Given the description of an element on the screen output the (x, y) to click on. 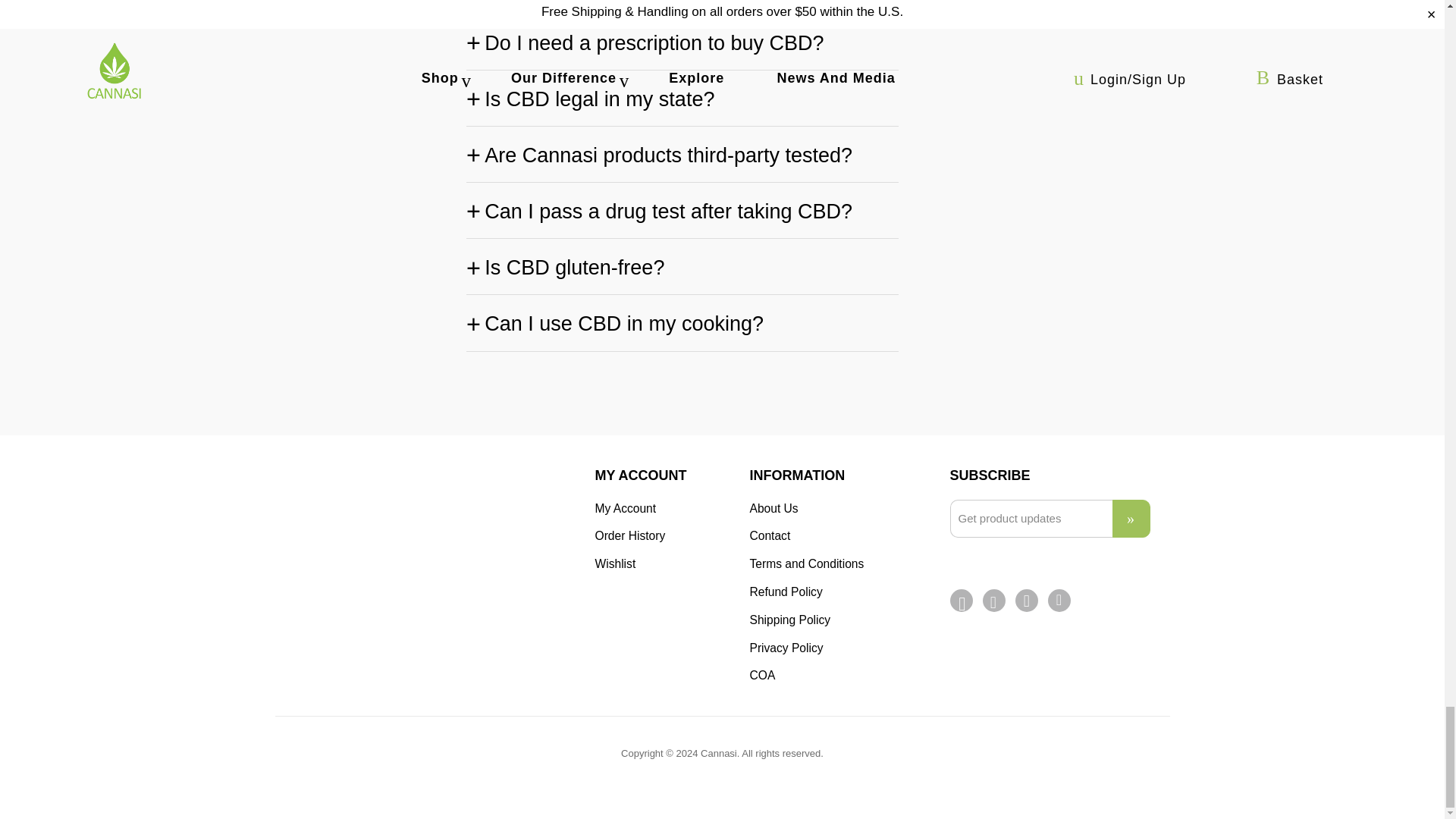
Cannasi on Pinterest (994, 602)
Cannasi on Instagram (1027, 601)
Cannasi on Facebook (962, 604)
Cannasi on LinkedIn (1059, 599)
